Given the description of an element on the screen output the (x, y) to click on. 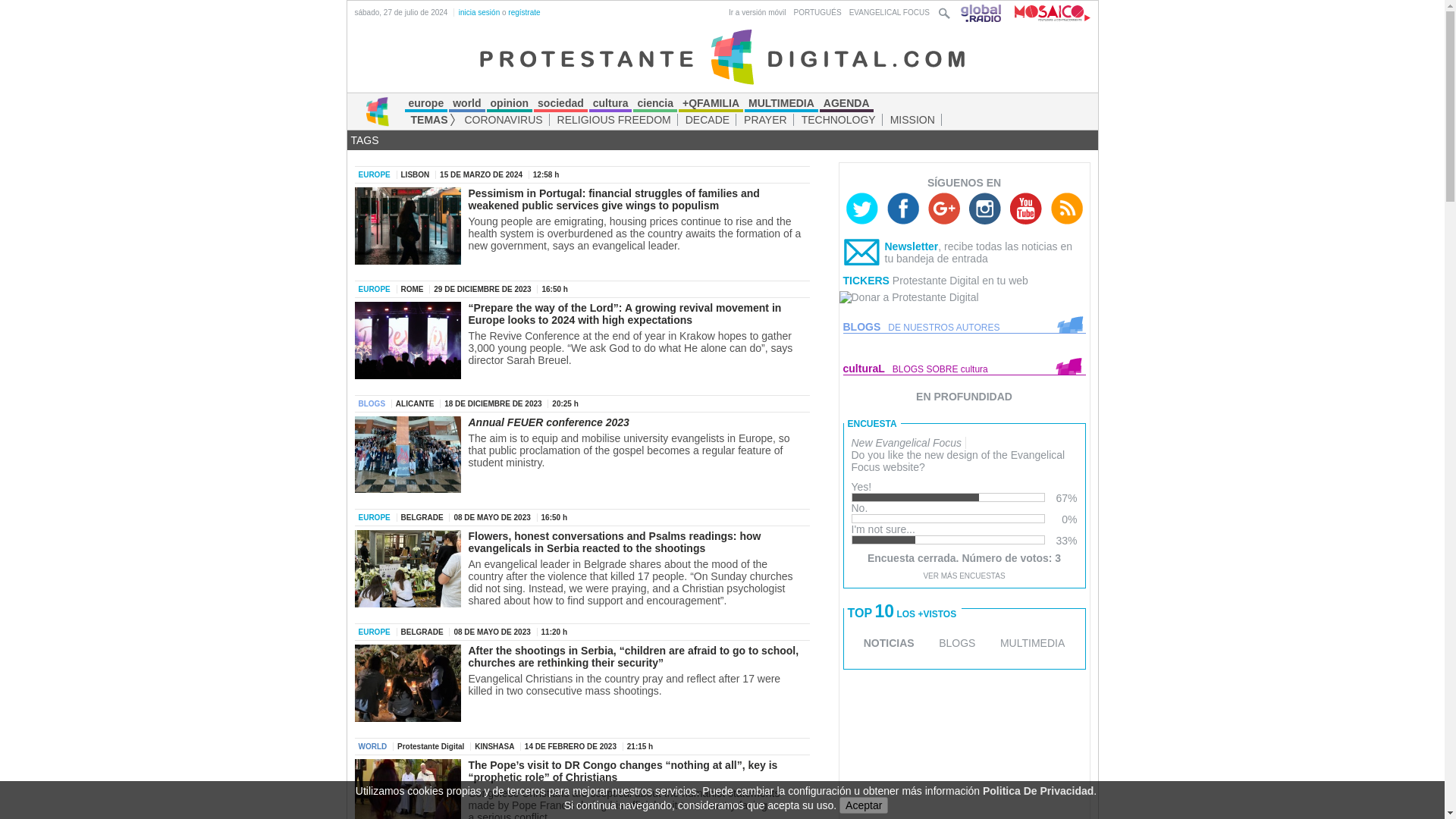
TAGS (364, 140)
